Given the description of an element on the screen output the (x, y) to click on. 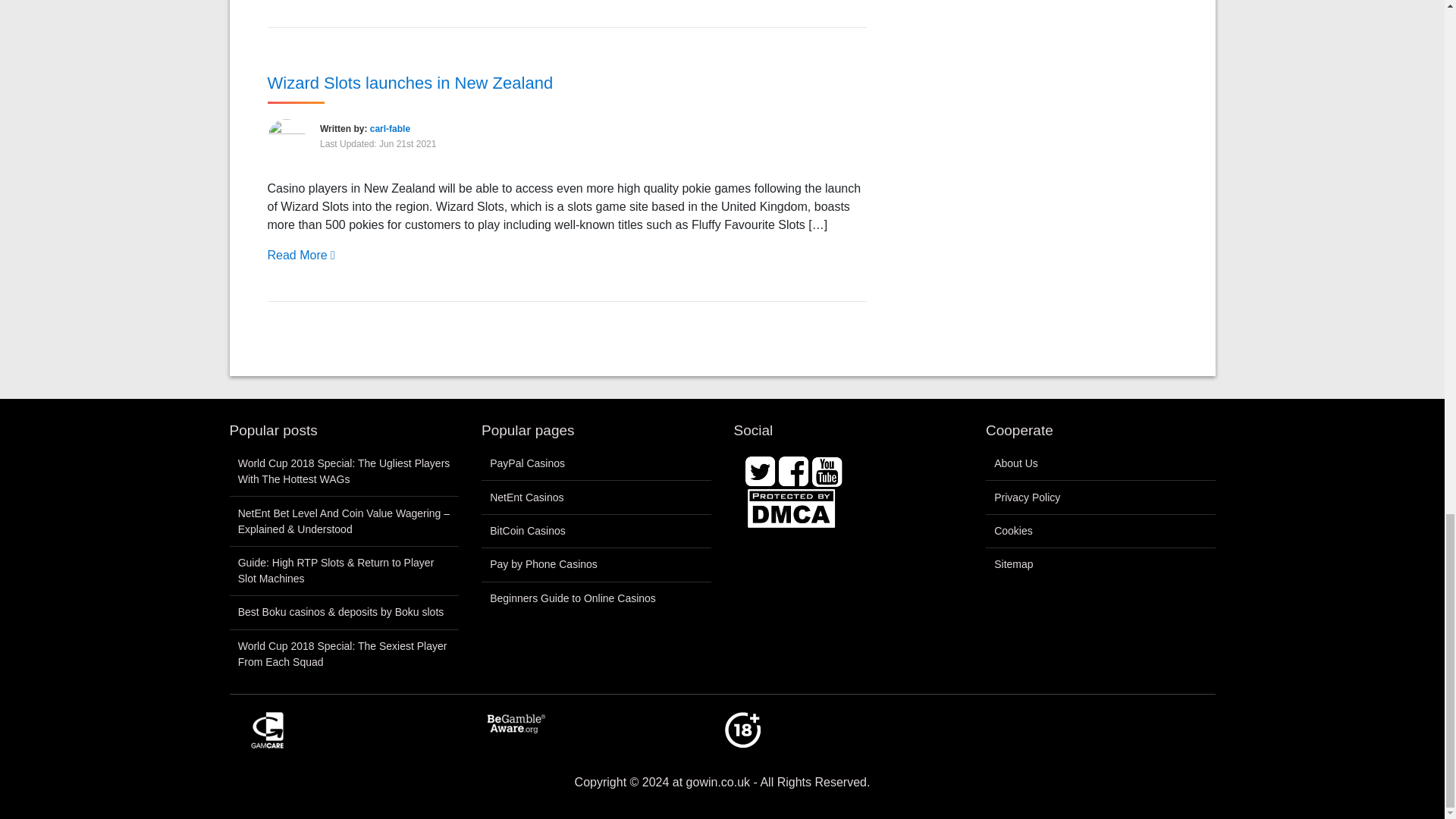
DMCA.com Protection Status (789, 507)
Wizard Slots launches in New Zealand (409, 81)
carl-fable (389, 127)
Read More (300, 254)
